Given the description of an element on the screen output the (x, y) to click on. 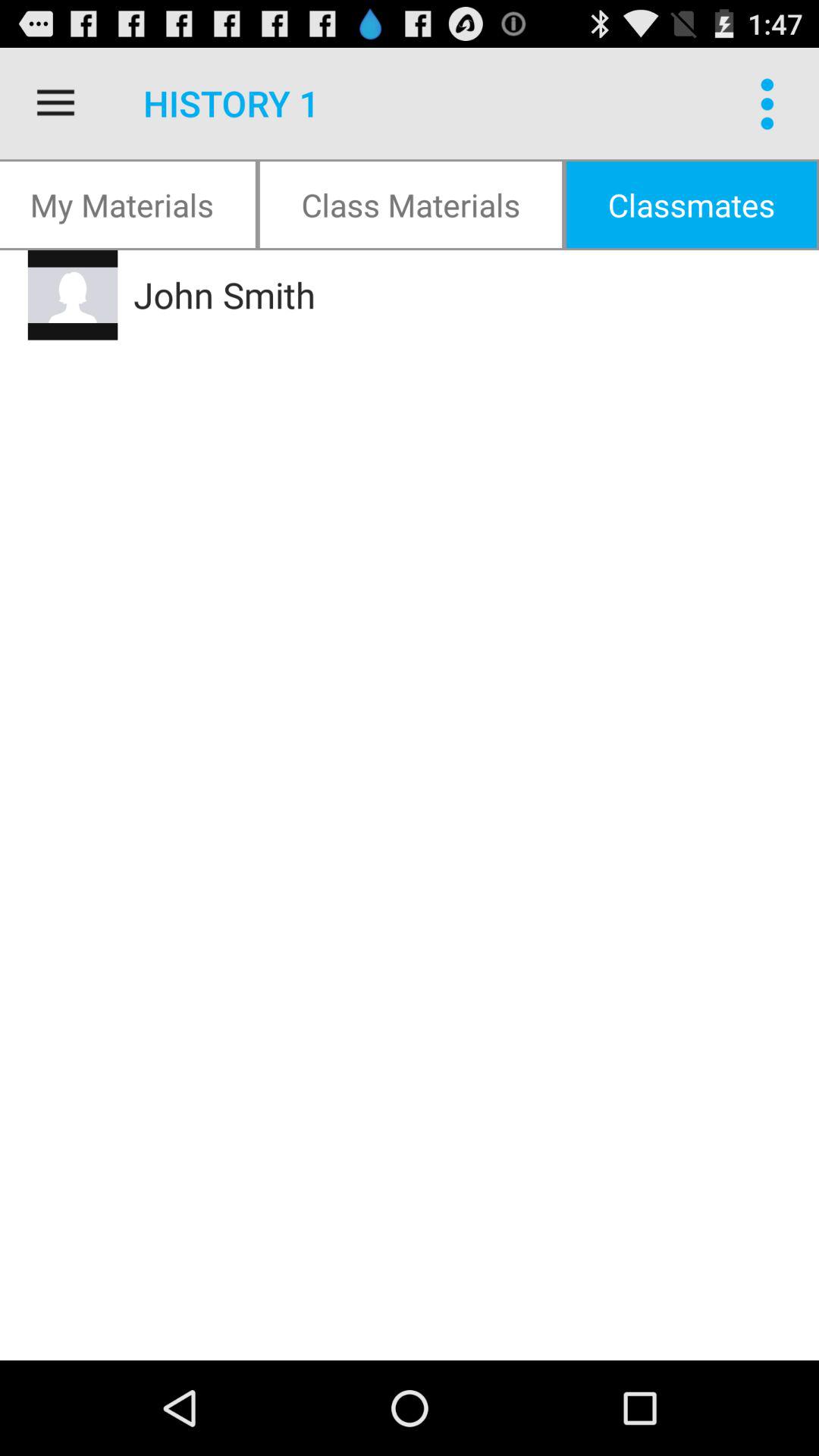
open my materials icon (128, 204)
